Given the description of an element on the screen output the (x, y) to click on. 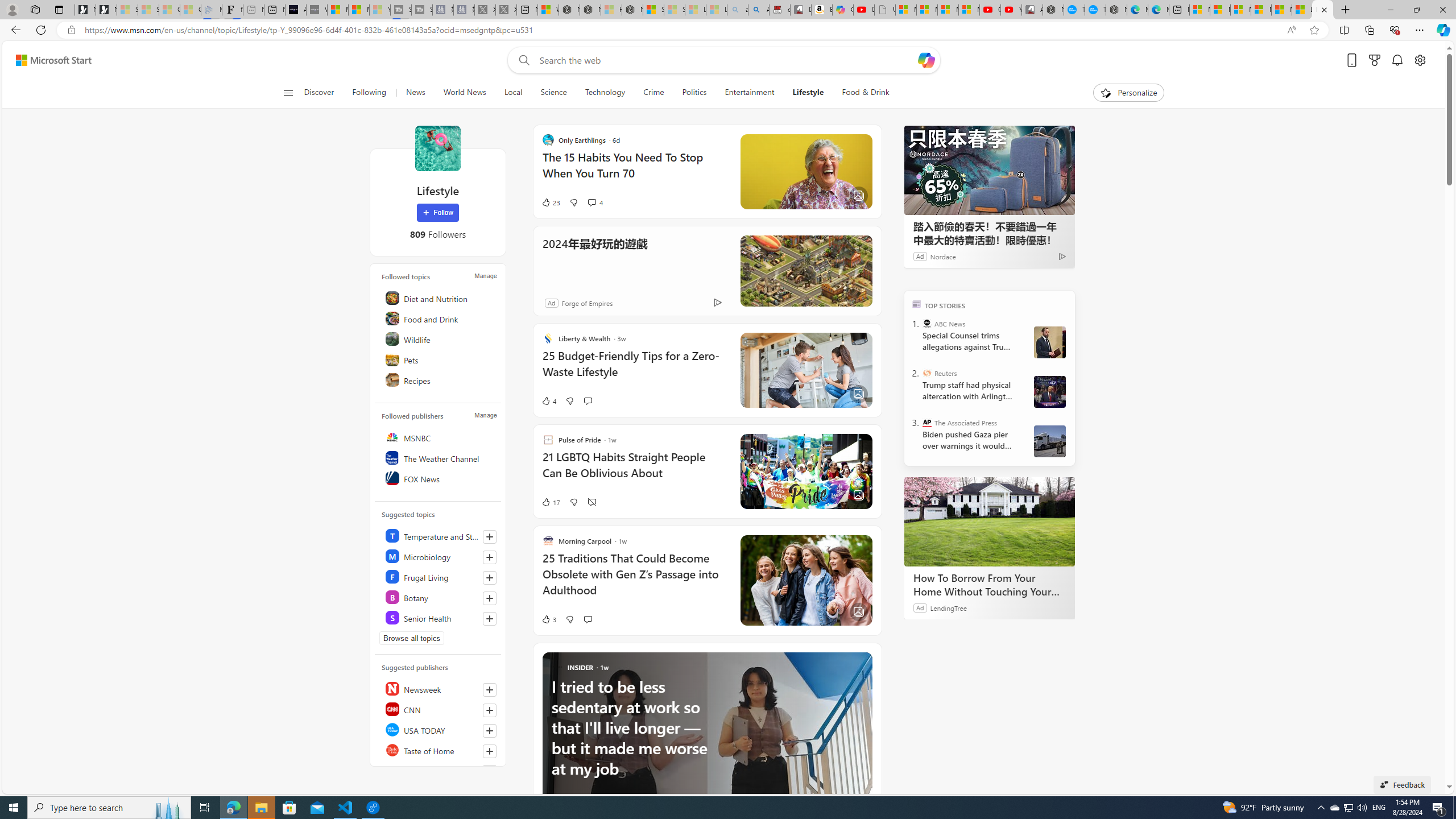
Lifestyle (437, 148)
Follow this source (489, 771)
Entertainment (749, 92)
Start the conversation (587, 619)
Pets (439, 359)
Reuters (927, 372)
ABC News (927, 323)
View comments 4 Comment (594, 202)
Nordace - My Account (1053, 9)
